Given the description of an element on the screen output the (x, y) to click on. 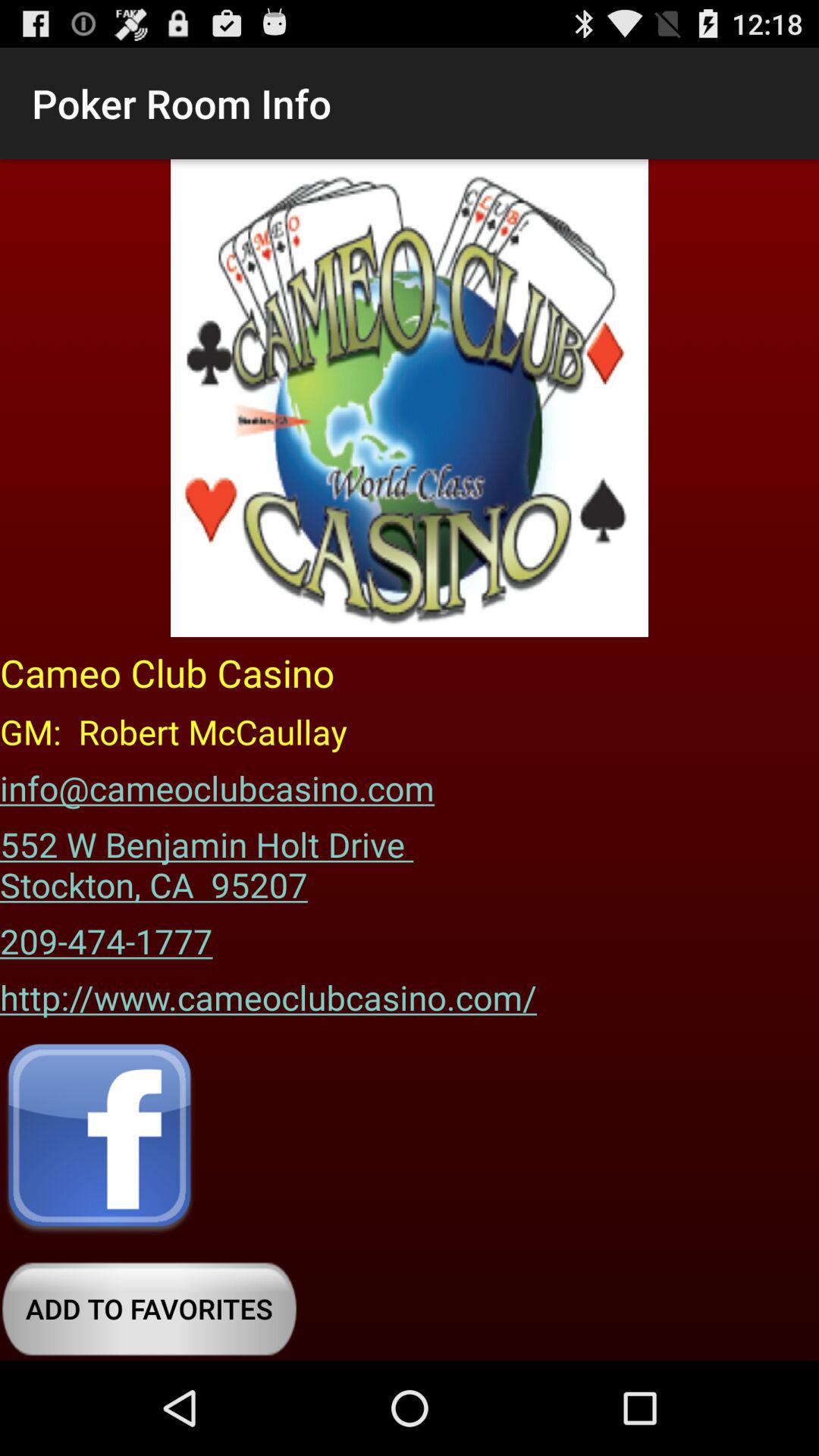
open facebook (99, 1139)
